Given the description of an element on the screen output the (x, y) to click on. 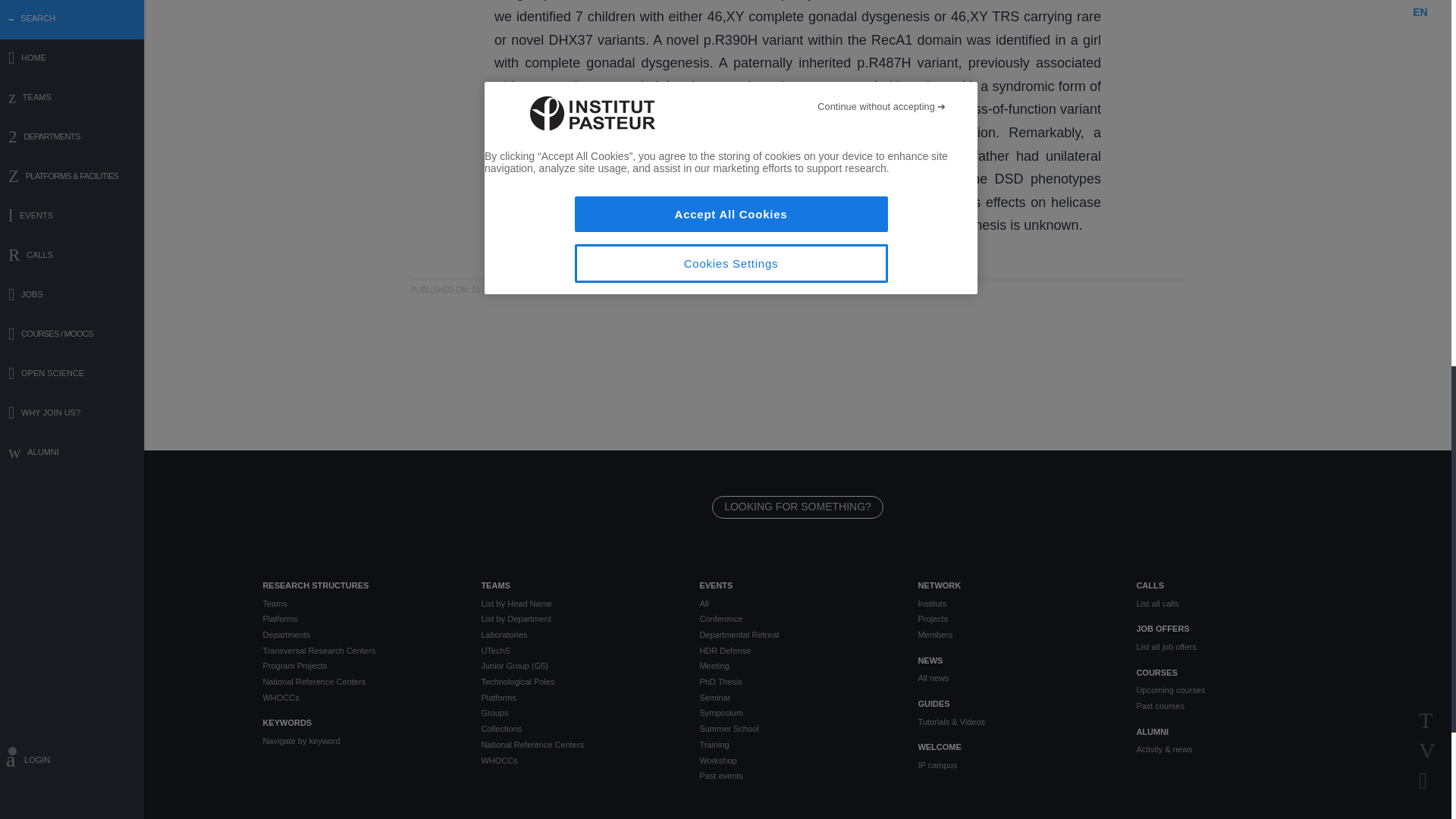
Teams (360, 603)
